Given the description of an element on the screen output the (x, y) to click on. 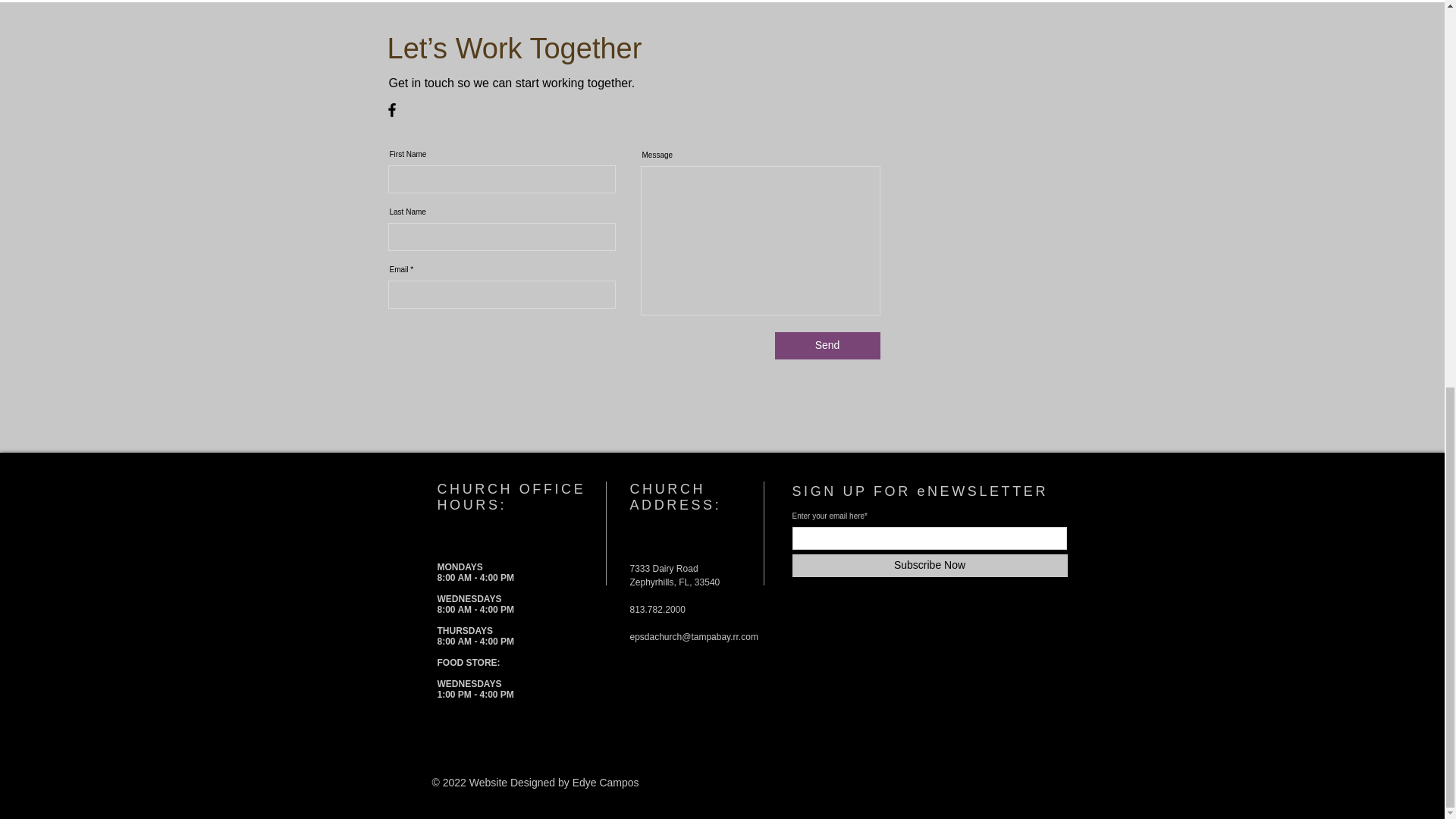
Subscribe Now (929, 565)
Send (827, 345)
